Given the description of an element on the screen output the (x, y) to click on. 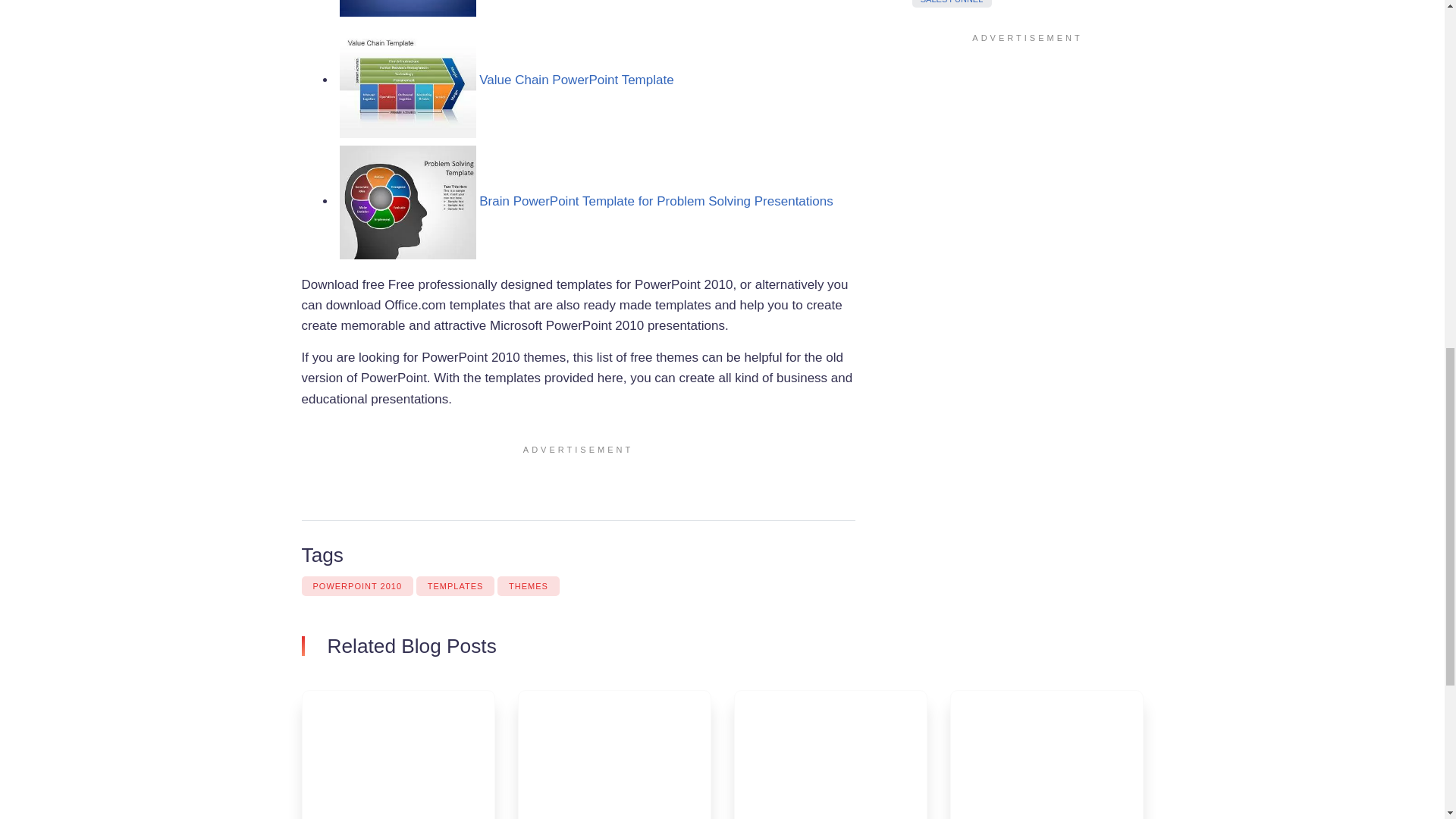
THEMES (528, 586)
POWERPOINT 2010 (357, 586)
Brain PowerPoint Template for Problem Solving Presentations (655, 201)
TEMPLATES (455, 586)
Value Chain PowerPoint Template (575, 79)
